Given the description of an element on the screen output the (x, y) to click on. 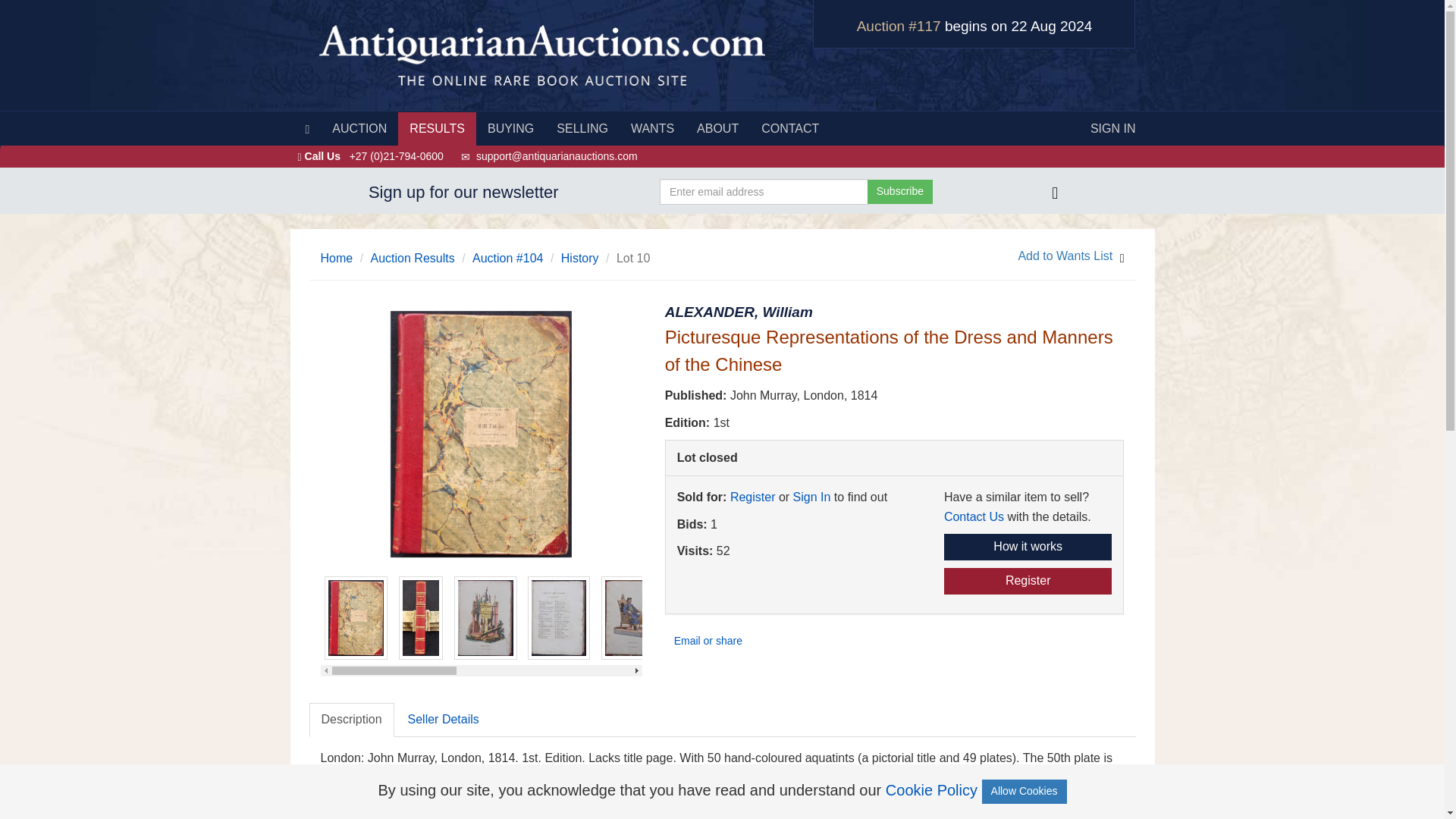
Add to Wants List (1064, 258)
Subscribe (900, 191)
ABOUT (717, 128)
History (579, 257)
Home (336, 257)
BUYING (510, 128)
SELLING (582, 128)
RESULTS (436, 128)
Auction Results (412, 257)
Add to Wants List (1064, 258)
AUCTION (358, 128)
CONTACT (789, 128)
SIGN IN (1112, 128)
Subscribe (900, 191)
WANTS (652, 128)
